Given the description of an element on the screen output the (x, y) to click on. 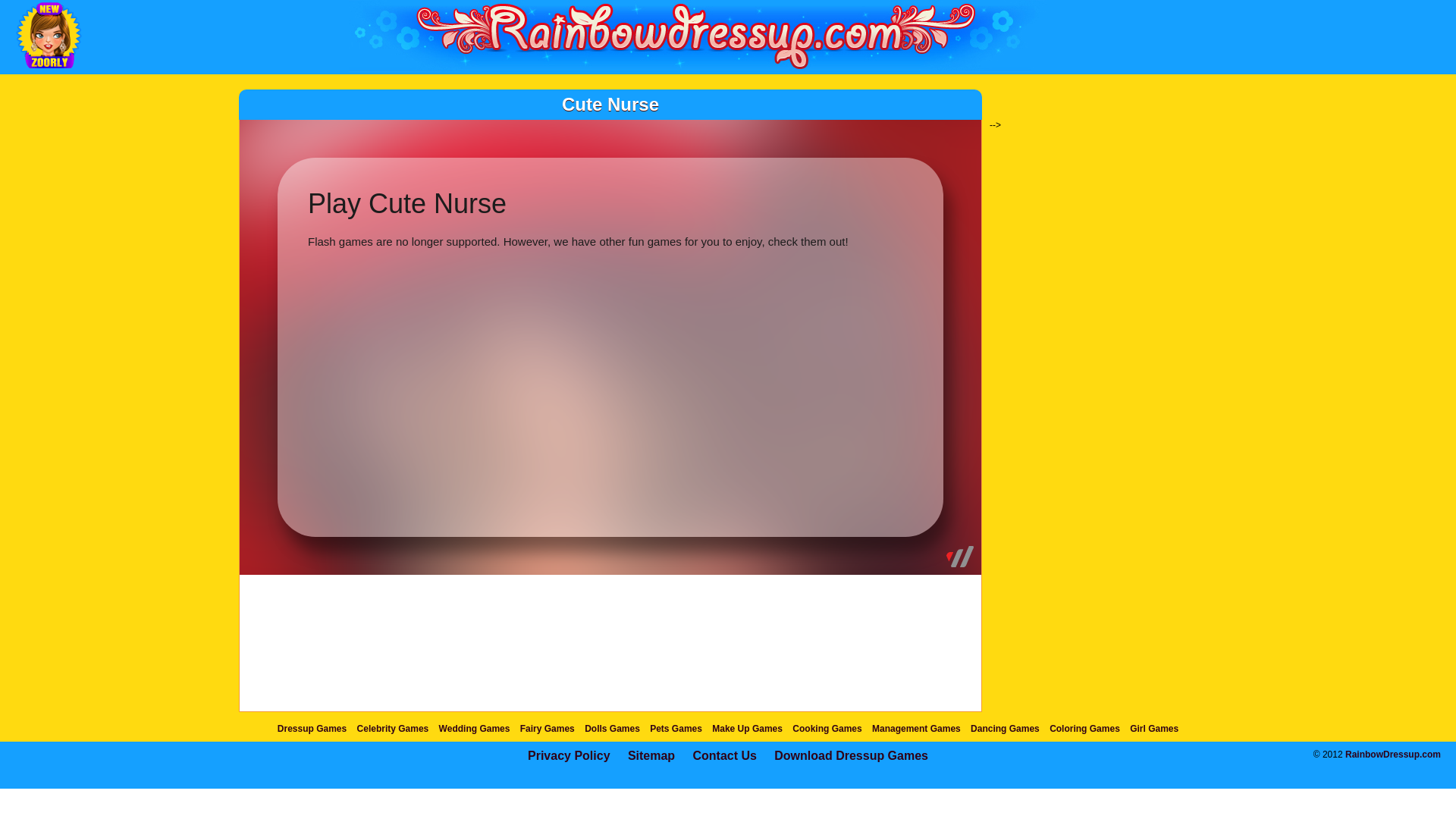
Pets Games (675, 728)
Sitemap (651, 755)
Contact Us (724, 755)
Download Dressup Games (851, 755)
Celebrity Games (392, 728)
Dolls Games (612, 728)
Fairy Games (547, 728)
Sitemap (651, 755)
Download Dressup Games (851, 755)
Dressup Games (312, 728)
